Given the description of an element on the screen output the (x, y) to click on. 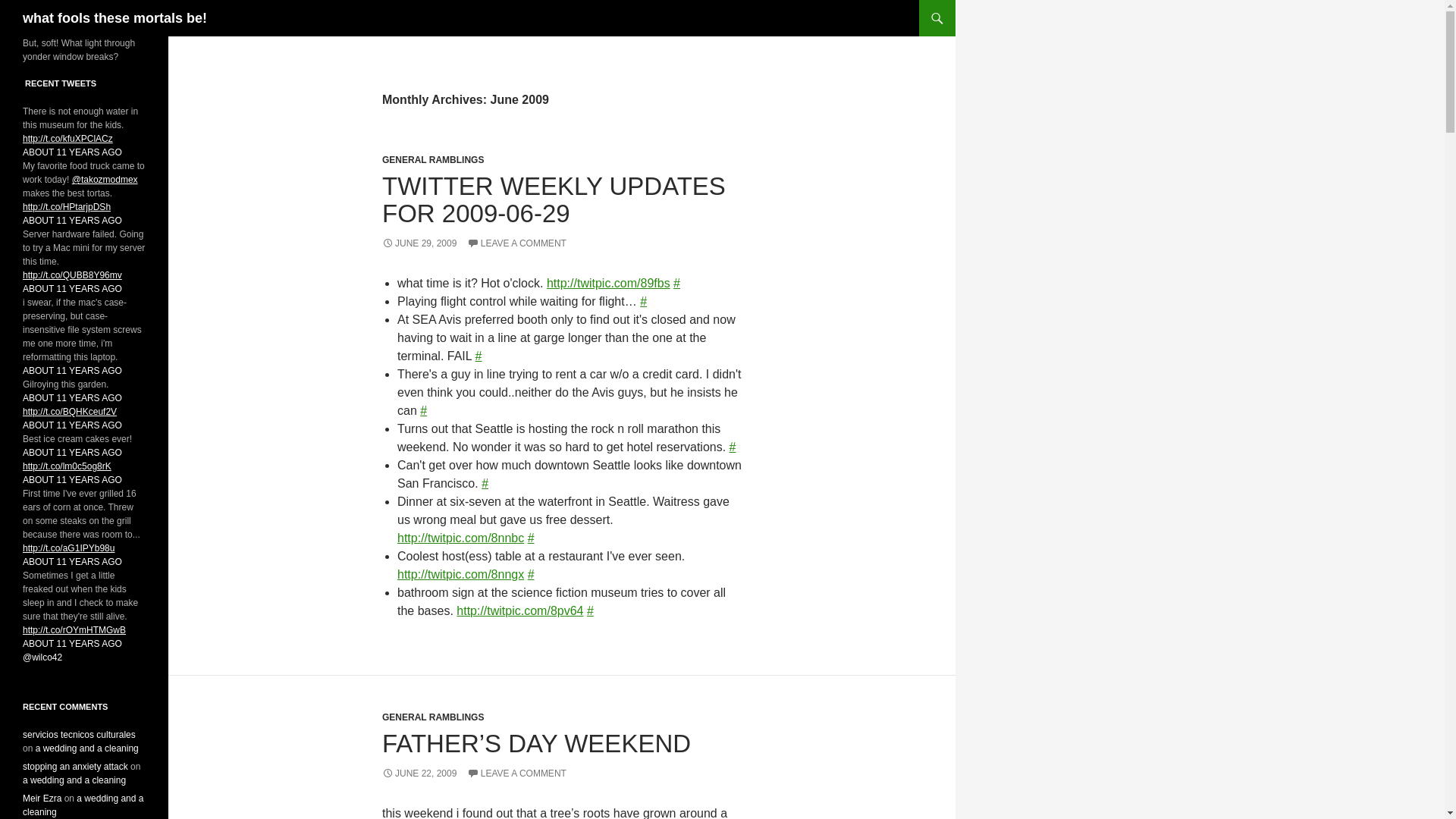
TWITTER WEEKLY UPDATES FOR 2009-06-29 (553, 199)
LEAVE A COMMENT (516, 243)
JUNE 22, 2009 (419, 773)
GENERAL RAMBLINGS (432, 159)
GENERAL RAMBLINGS (432, 716)
what fools these mortals be! (114, 18)
JUNE 29, 2009 (419, 243)
LEAVE A COMMENT (516, 773)
